Given the description of an element on the screen output the (x, y) to click on. 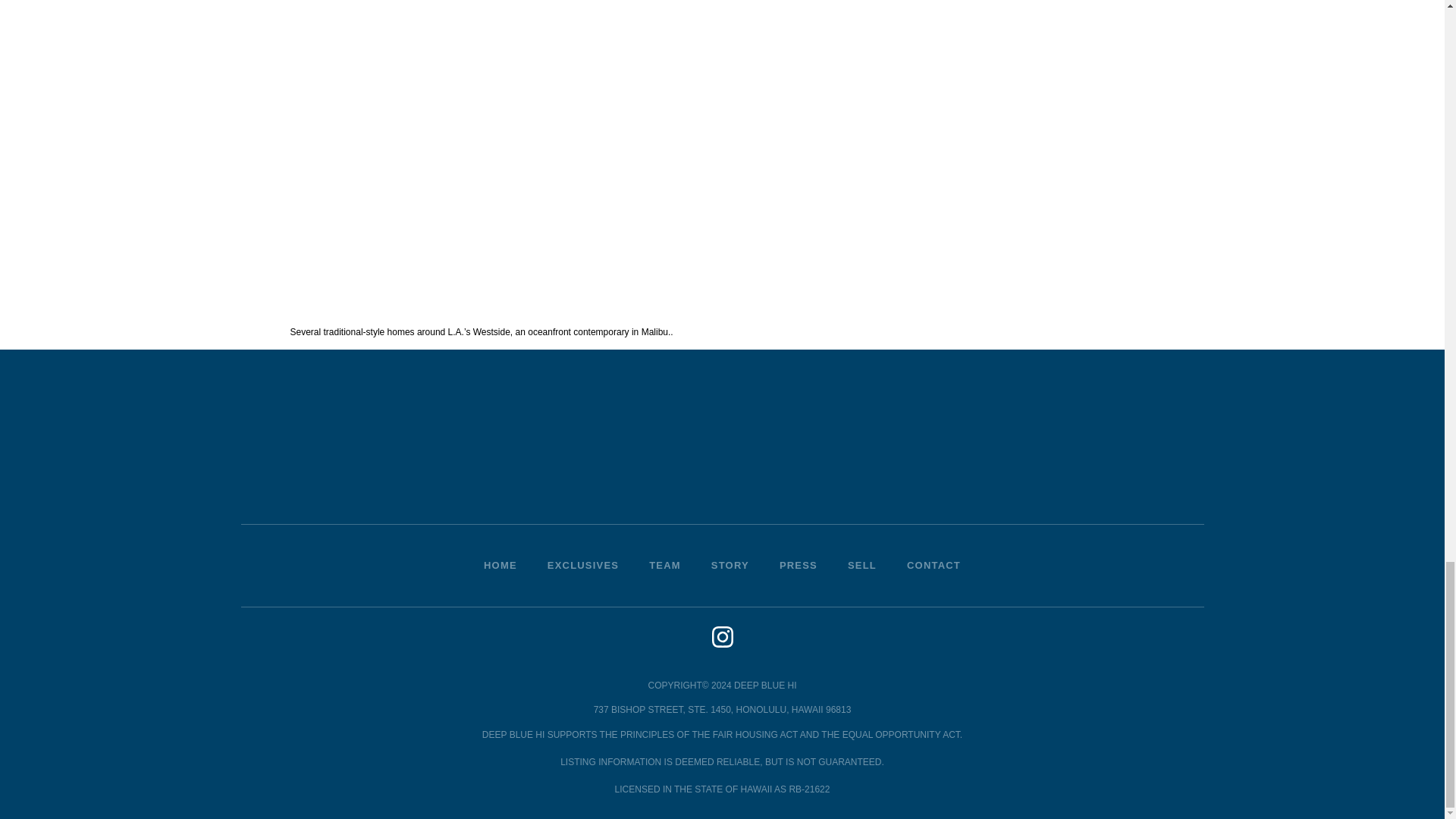
CONTACT (933, 565)
PRESS (798, 565)
STORY (729, 565)
EXCLUSIVES (582, 565)
HOME (500, 565)
SELL (861, 565)
TEAM (664, 565)
